Given the description of an element on the screen output the (x, y) to click on. 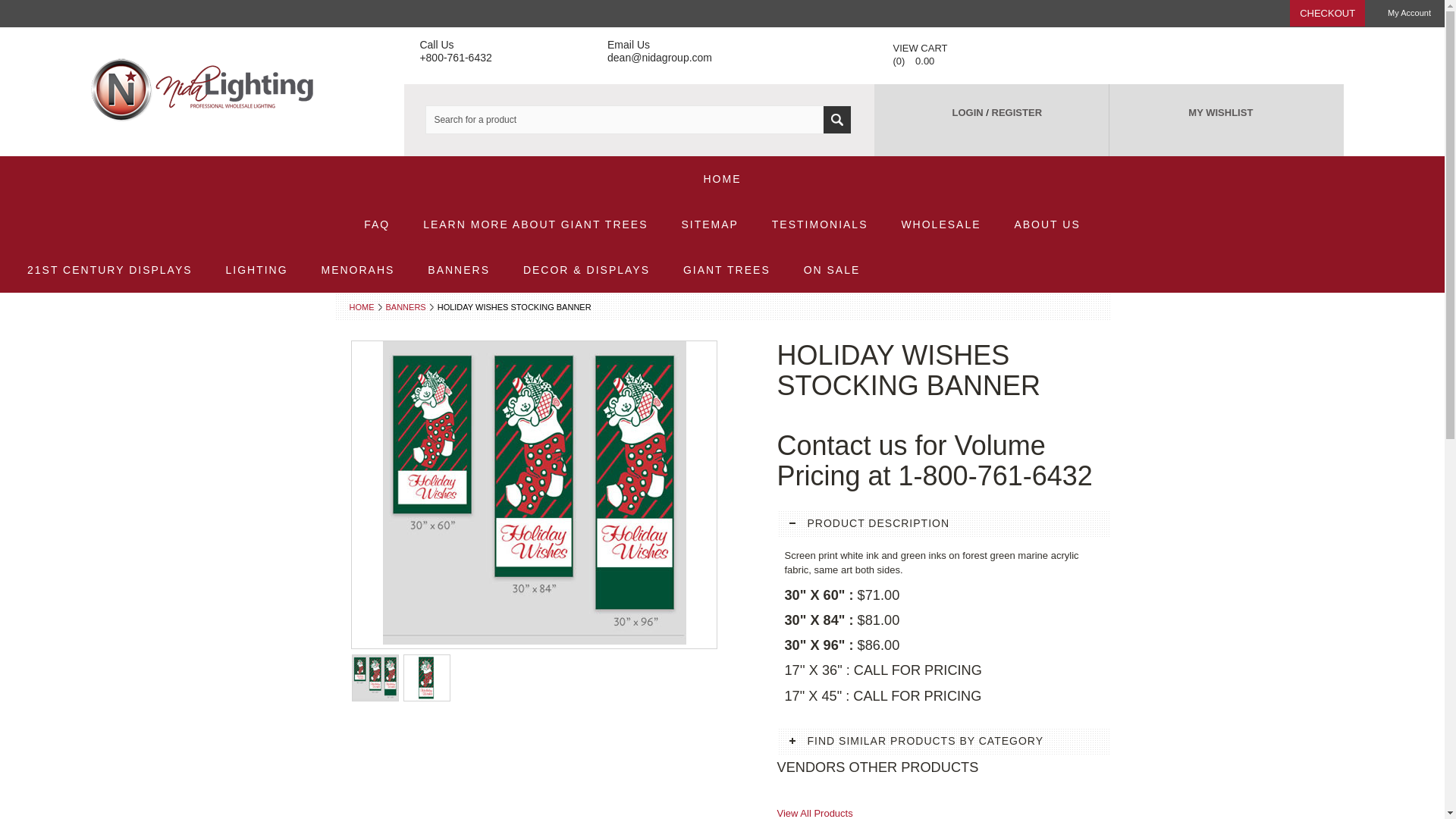
SEARCH (837, 119)
LIGHTING (255, 269)
MY WISHLIST (1220, 113)
SITEMAP (708, 224)
My Account (1409, 12)
WHOLESALE (940, 224)
REGISTER (1016, 113)
Image 2 (425, 678)
LEARN MORE ABOUT GIANT TREES (534, 224)
Image 1 (374, 678)
CHECKOUT (1327, 13)
21ST CENTURY DISPLAYS (109, 269)
ABOUT US (1046, 224)
Search for a product (638, 119)
FAQ (376, 224)
